Given the description of an element on the screen output the (x, y) to click on. 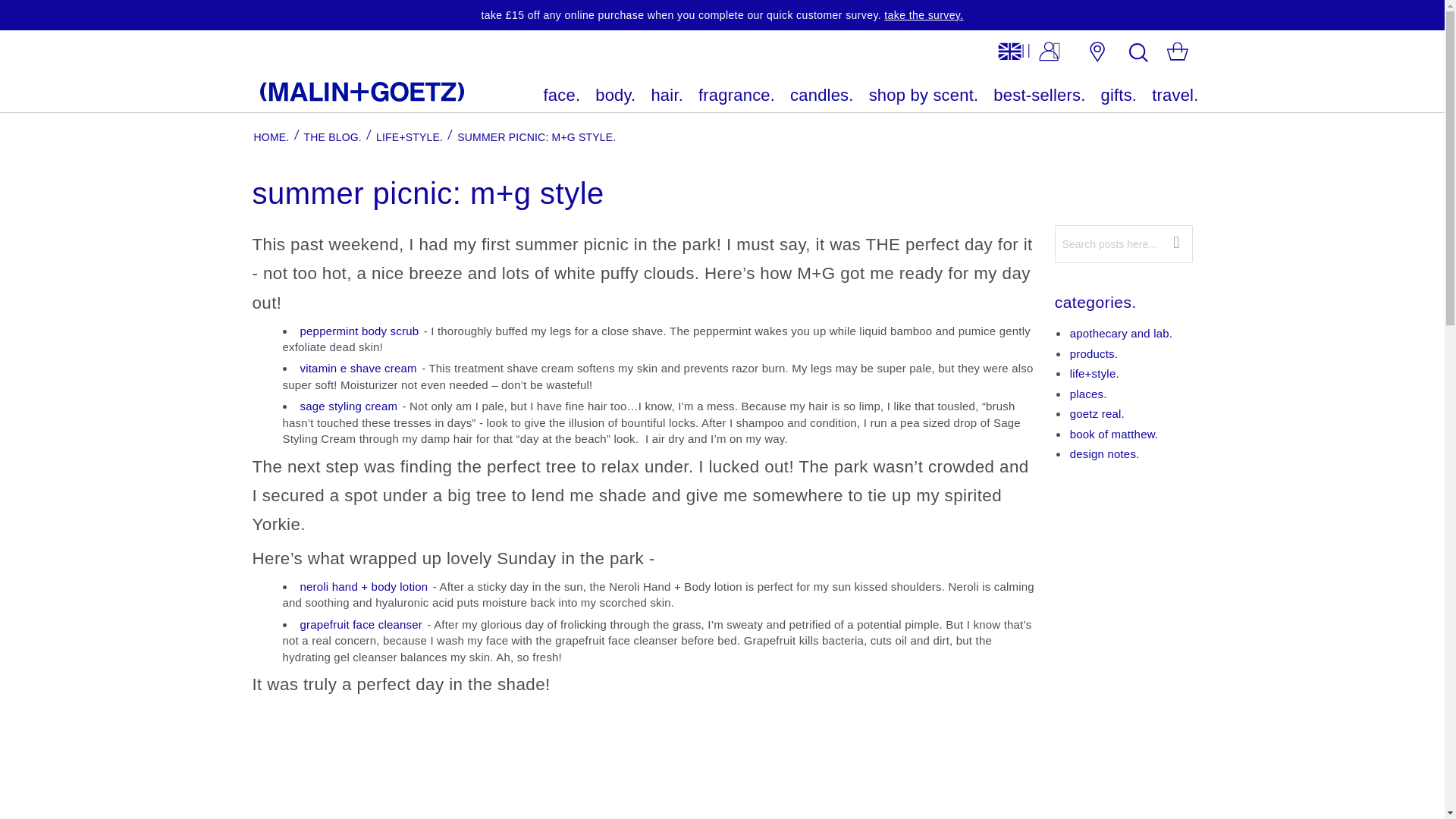
design notes.  (1104, 453)
My Bag (1177, 53)
the blog. (331, 136)
take the survey. (922, 15)
products. (1093, 353)
body. (615, 94)
face. (561, 94)
places. (1088, 393)
apothecary and lab. (1121, 332)
book of matthew. (1114, 433)
Go to Home Page (270, 136)
goetz real. (1096, 413)
